Given the description of an element on the screen output the (x, y) to click on. 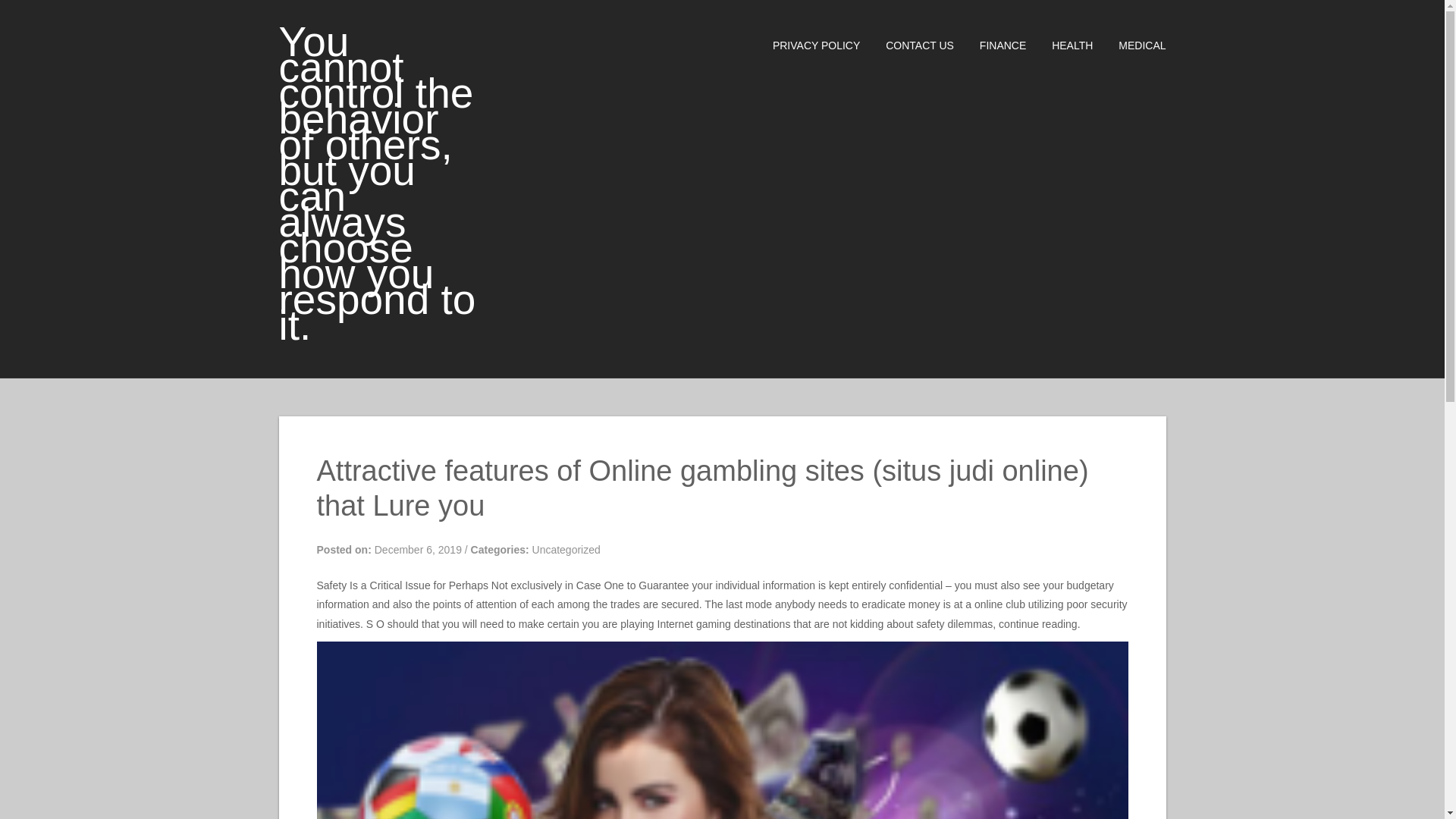
Uncategorized (565, 549)
CONTACT US (908, 45)
PRIVACY POLICY (804, 45)
